Given the description of an element on the screen output the (x, y) to click on. 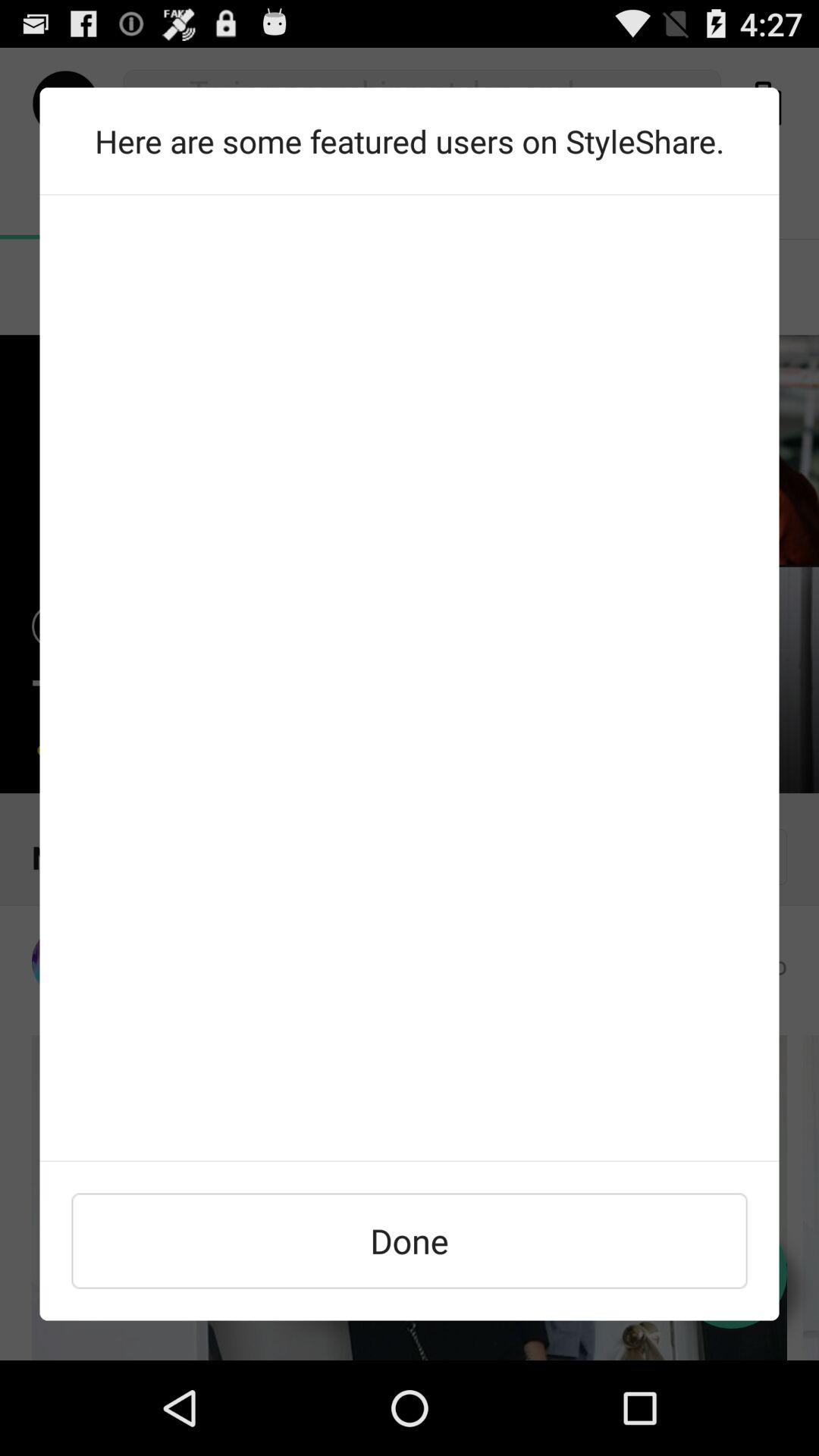
jump to done (409, 1240)
